Given the description of an element on the screen output the (x, y) to click on. 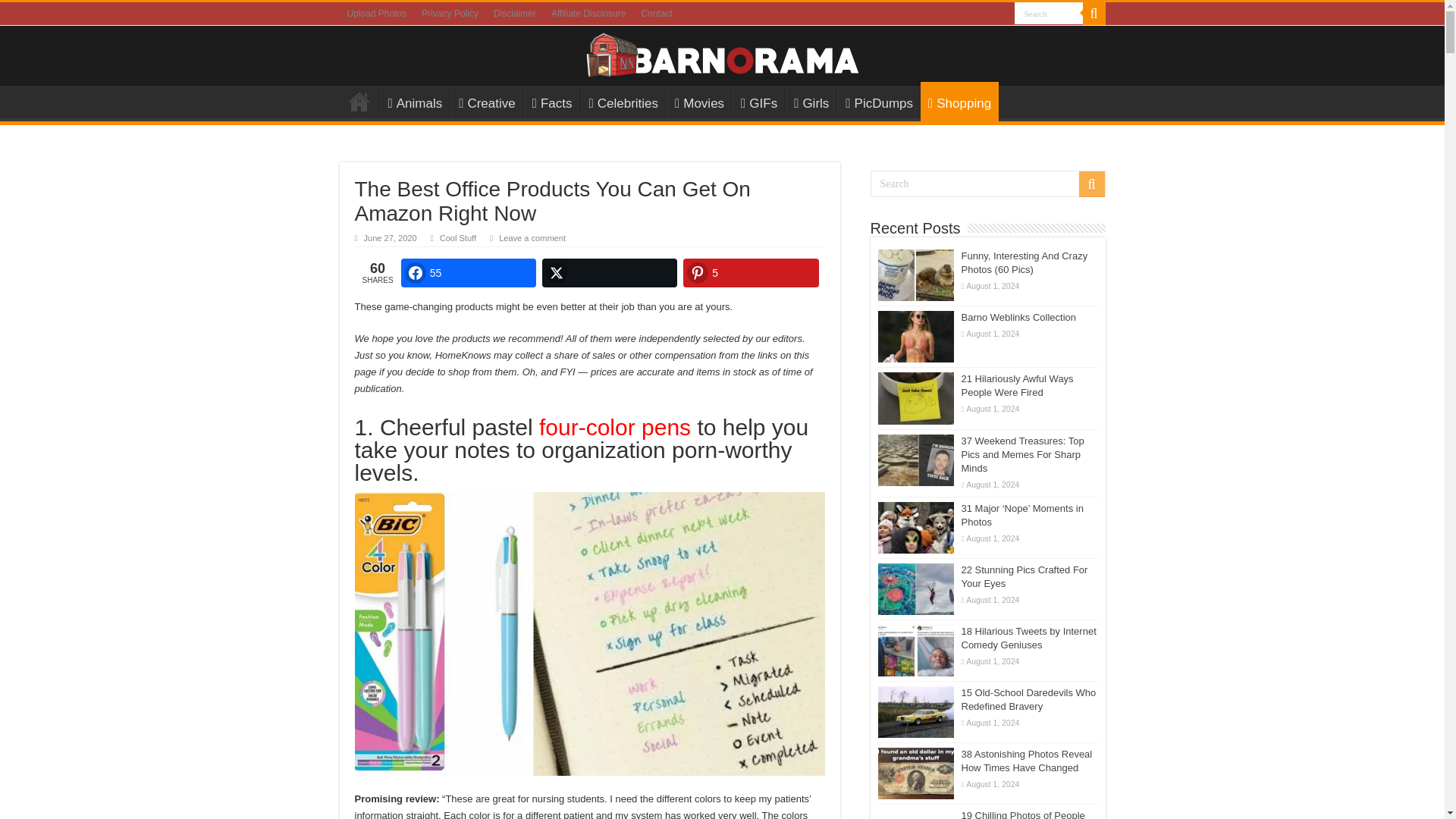
Share on Facebook (468, 272)
Search (987, 183)
Share on Pinterest (750, 272)
Search (1048, 13)
Search (1048, 13)
Share on Twitter (609, 272)
Upload Photos (376, 13)
Barnorama (722, 51)
Home (358, 101)
Search (1048, 13)
Privacy Policy (449, 13)
